Given the description of an element on the screen output the (x, y) to click on. 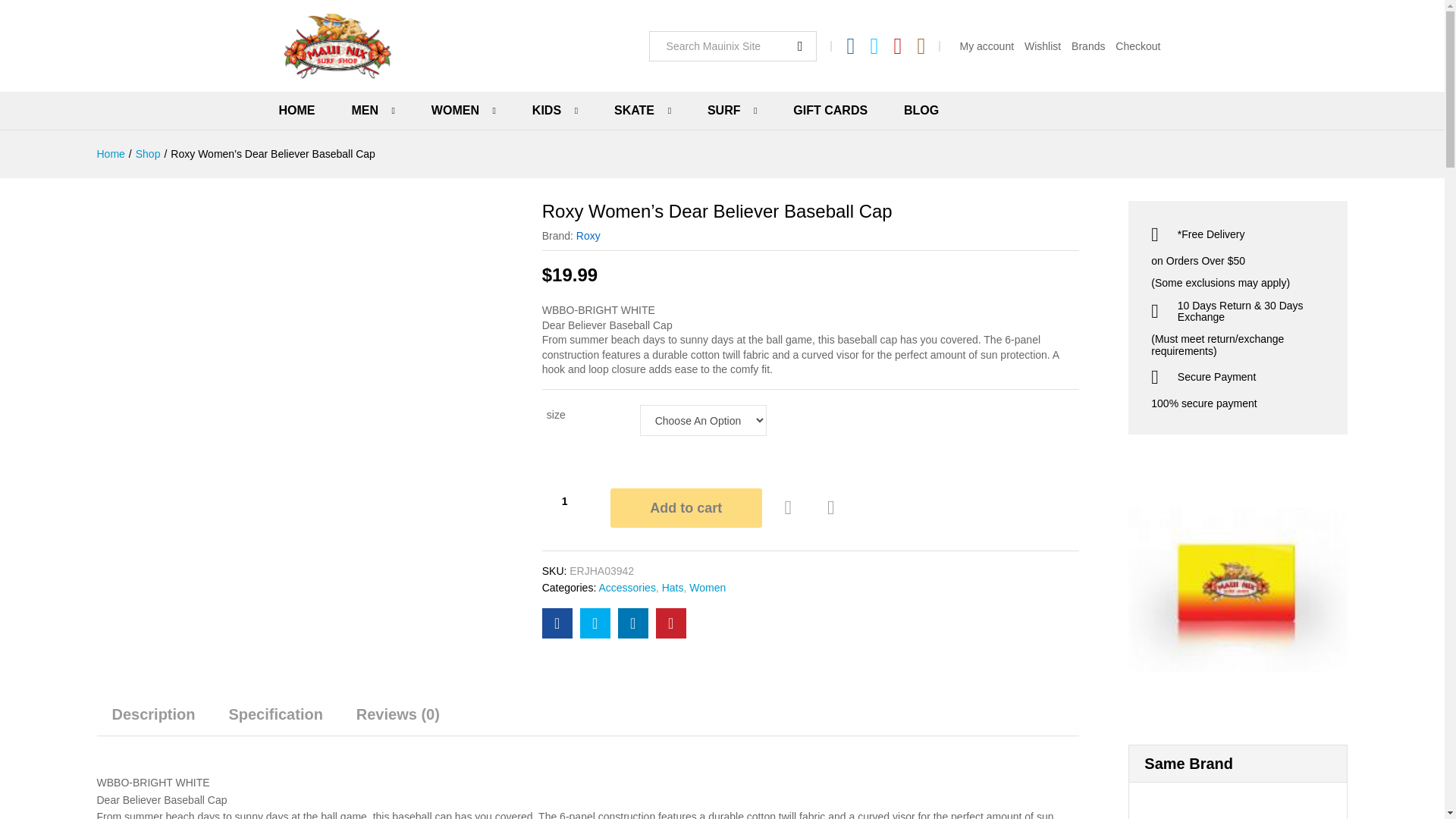
Add to wishlist (790, 507)
Qty (564, 501)
Instagram (921, 46)
MEN (364, 110)
1 (564, 501)
Search (796, 46)
Pinterest (898, 46)
Brands (1088, 46)
Maui Nix Surf Shop (337, 45)
Twitter (874, 46)
